Given the description of an element on the screen output the (x, y) to click on. 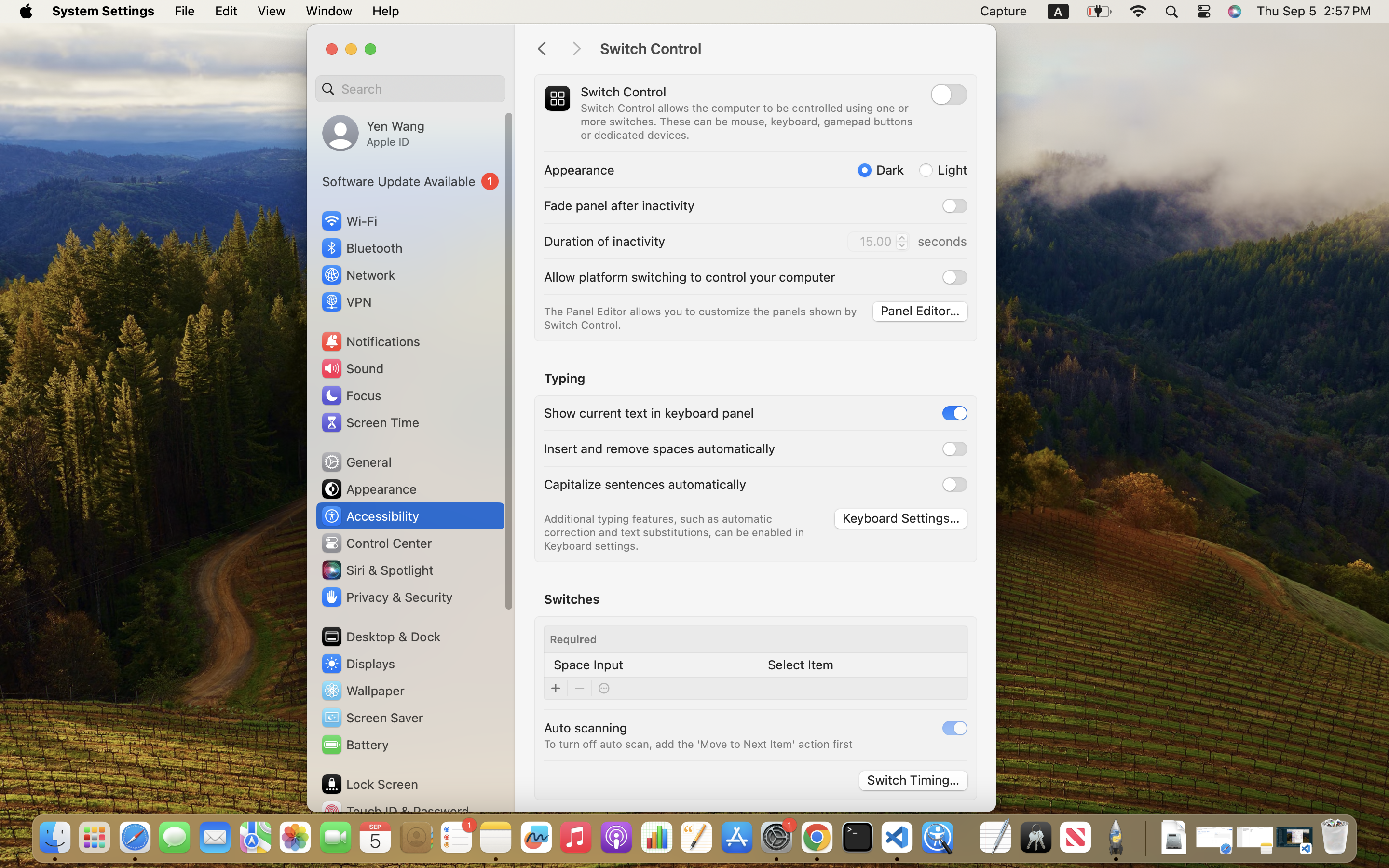
15.00 Element type: AXTextField (877, 241)
Switch Control allows the computer to be controlled using one or more switches. These can be mouse, keyboard, gamepad buttons or dedicated devices. Element type: AXStaticText (747, 121)
0.4285714328289032 Element type: AXDockItem (965, 837)
General Element type: AXStaticText (355, 461)
15.0 Element type: AXIncrementor (900, 240)
